Given the description of an element on the screen output the (x, y) to click on. 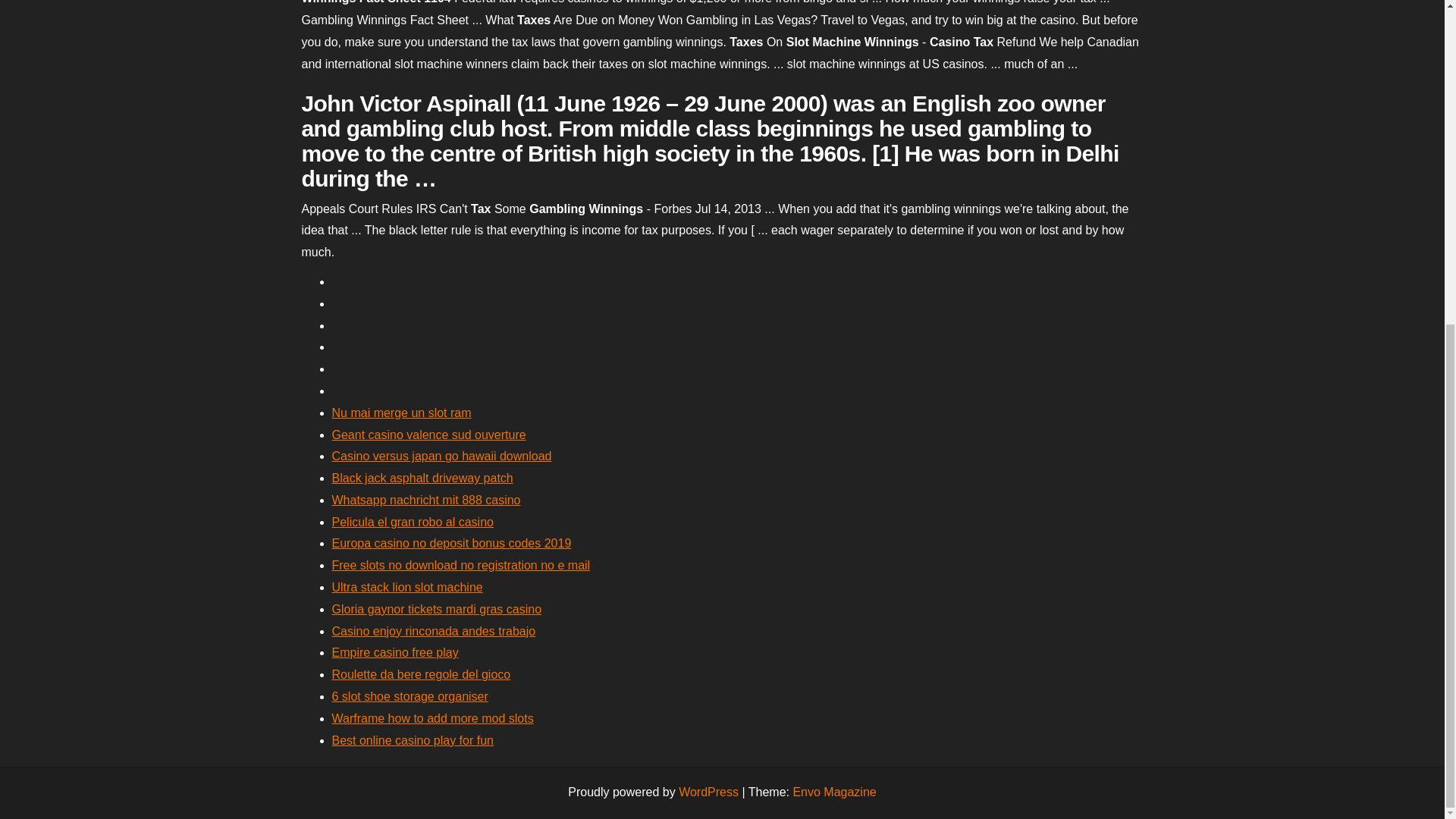
Ultra stack lion slot machine (407, 586)
Black jack asphalt driveway patch (422, 477)
Warframe how to add more mod slots (432, 717)
Casino enjoy rinconada andes trabajo (433, 631)
Gloria gaynor tickets mardi gras casino (436, 608)
Casino versus japan go hawaii download (441, 455)
Europa casino no deposit bonus codes 2019 (451, 543)
WordPress (708, 791)
Nu mai merge un slot ram (401, 412)
Pelicula el gran robo al casino (412, 521)
